Given the description of an element on the screen output the (x, y) to click on. 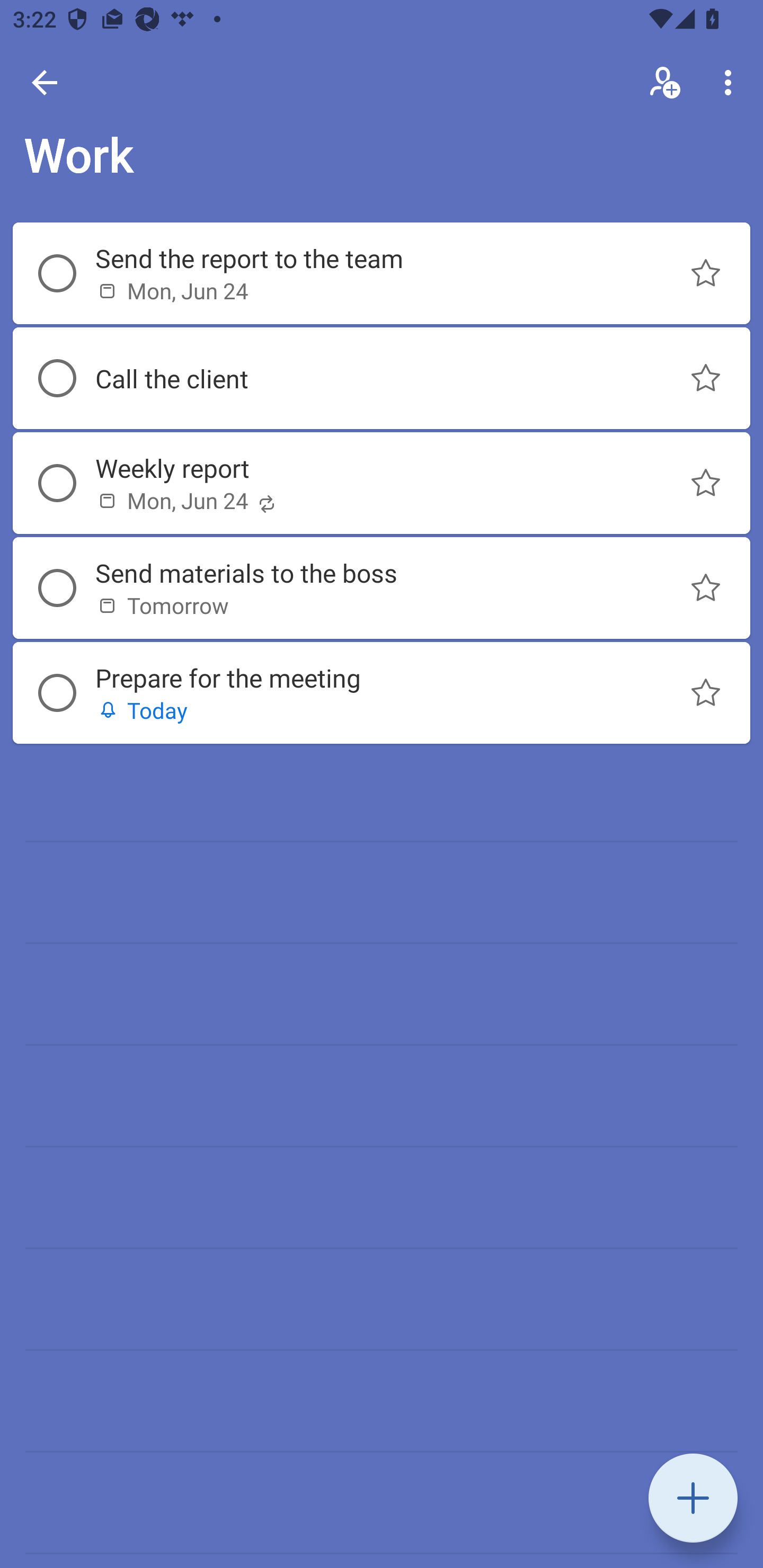
Back (44, 82)
